Given the description of an element on the screen output the (x, y) to click on. 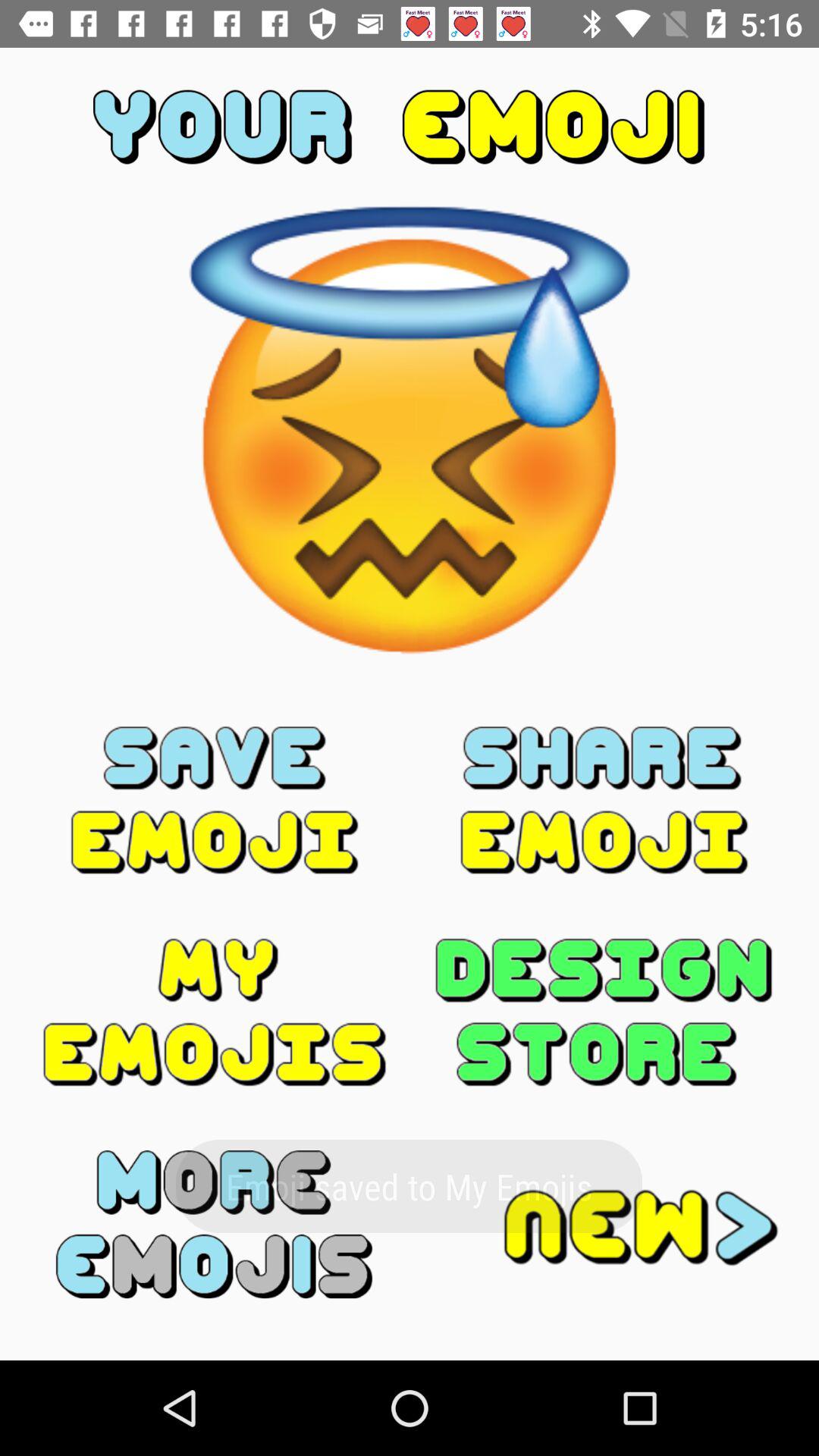
save emoji (214, 800)
